Given the description of an element on the screen output the (x, y) to click on. 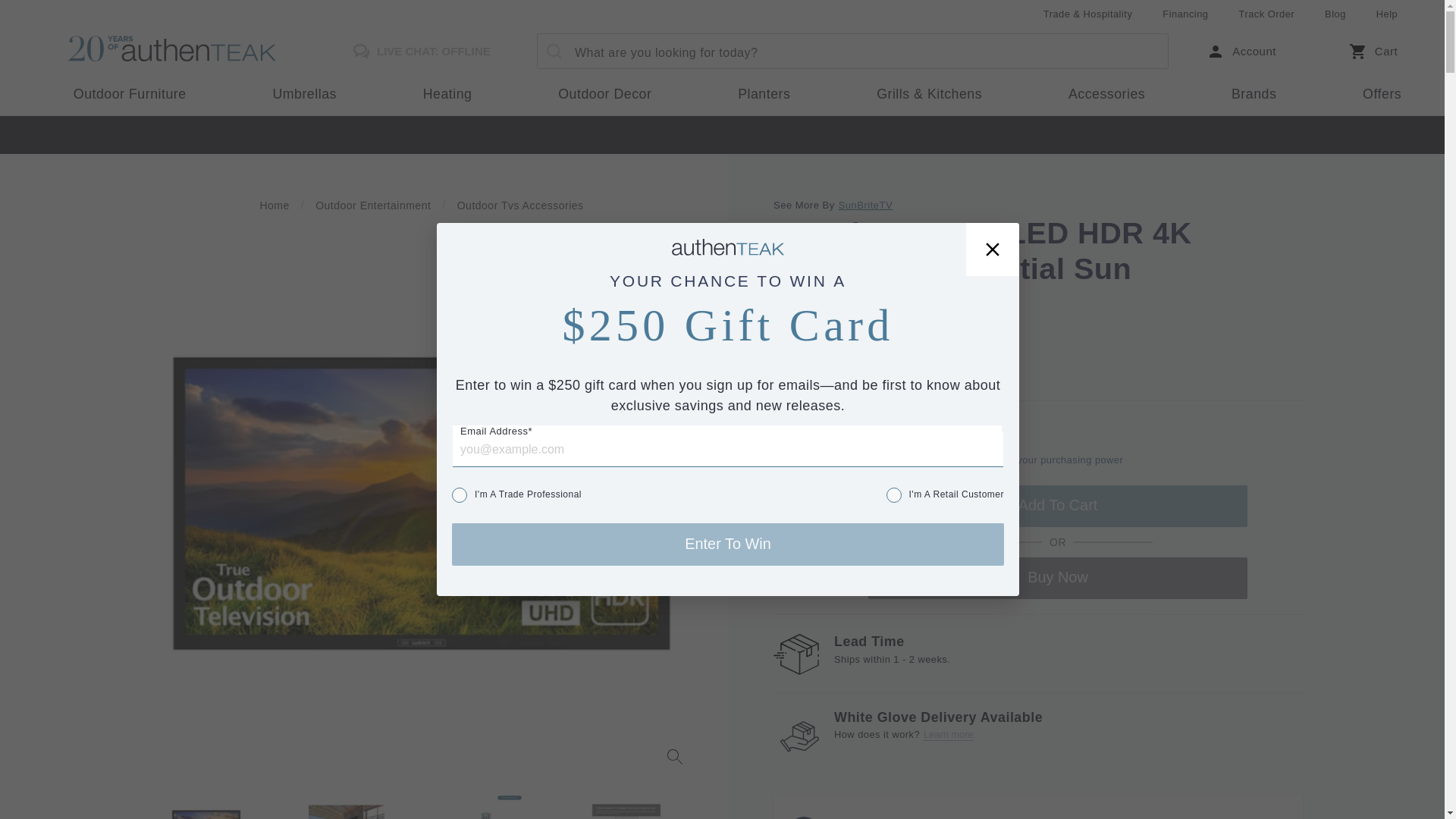
Go to Blog page (1334, 14)
LIVE CHAT: OFFLINE (416, 51)
Shop Outdoor Decor (604, 94)
Chat with us today! (416, 51)
Go to Help page (1386, 14)
Your account (1241, 51)
Shop All Brands (1253, 94)
Cart (1368, 51)
Shop Patio Umbrellas and Accessories (304, 94)
Shop Grills and Outdoor Kitchens (929, 94)
Authenteak.com (185, 51)
LIVE CHAT: OFFLINE (416, 51)
Financing (1184, 14)
Shop All Outdoor Furniture (130, 94)
Outdoor Entertainment (372, 205)
